Given the description of an element on the screen output the (x, y) to click on. 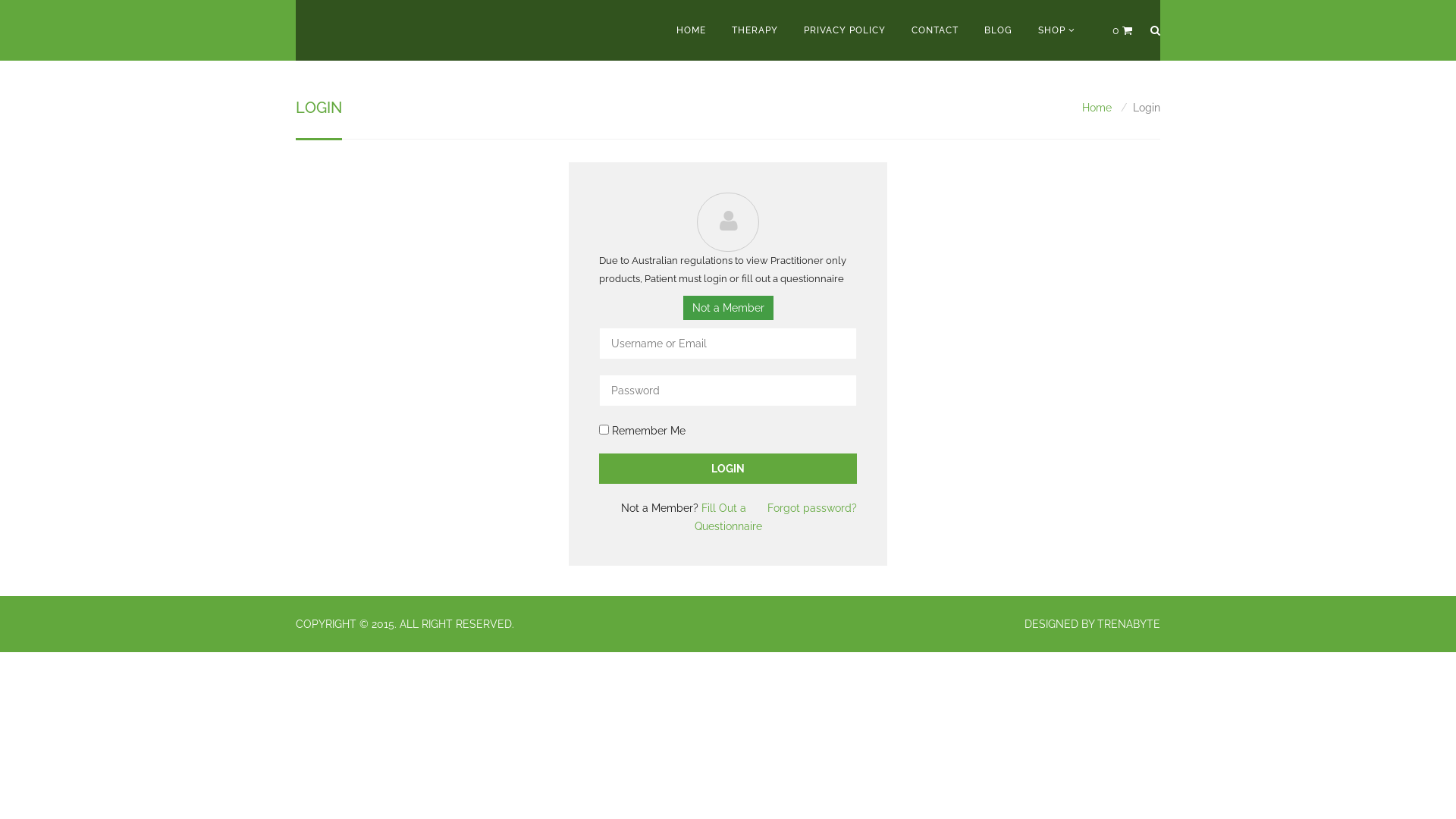
CONTACT Element type: text (934, 30)
HOME Element type: text (690, 30)
Not a Member Element type: text (727, 307)
Home Element type: text (1096, 107)
Password Element type: hover (727, 390)
Forgot password? Element type: text (811, 508)
THERAPY Element type: text (754, 30)
TRENABYTE Element type: text (1128, 624)
PRIVACY POLICY Element type: text (843, 30)
Fill Out a Questionnaire Element type: text (728, 517)
BLOG Element type: text (997, 30)
Login Element type: text (727, 468)
Username or Email Element type: hover (727, 343)
0 Element type: text (1122, 30)
SHOP Element type: text (1056, 30)
